Given the description of an element on the screen output the (x, y) to click on. 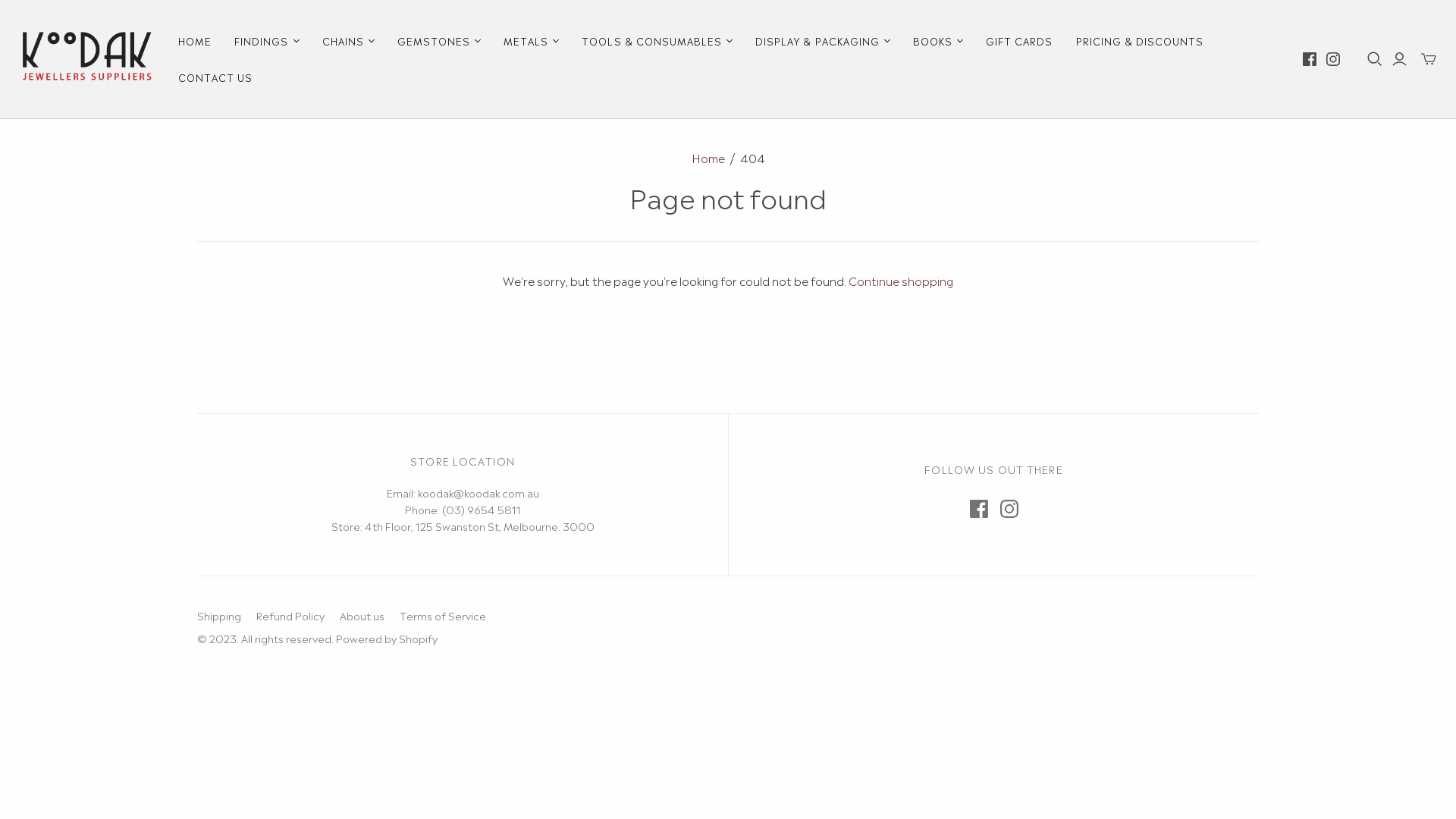
Terms of Service Element type: text (442, 614)
PRICING & DISCOUNTS Element type: text (1139, 40)
CONTACT US Element type: text (214, 77)
Home Element type: text (707, 157)
HOME Element type: text (194, 40)
Continue shopping Element type: text (900, 279)
About us Element type: text (361, 614)
GIFT CARDS Element type: text (1018, 40)
Shipping Element type: text (219, 614)
Powered by Shopify Element type: text (386, 637)
Refund Policy Element type: text (290, 614)
